Given the description of an element on the screen output the (x, y) to click on. 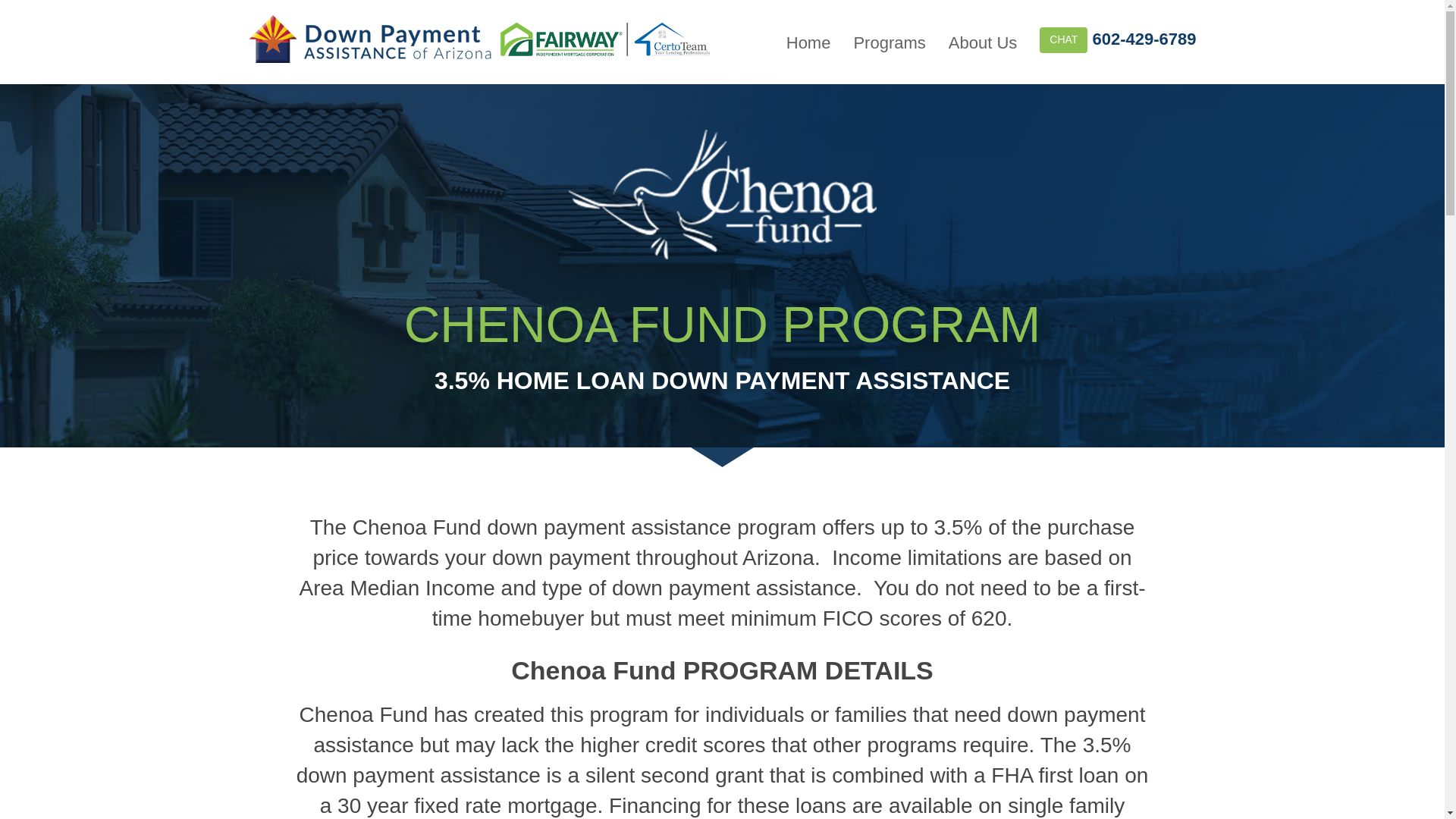
About Us (983, 43)
Home (808, 43)
CHAT (1063, 40)
Programs (888, 43)
